Given the description of an element on the screen output the (x, y) to click on. 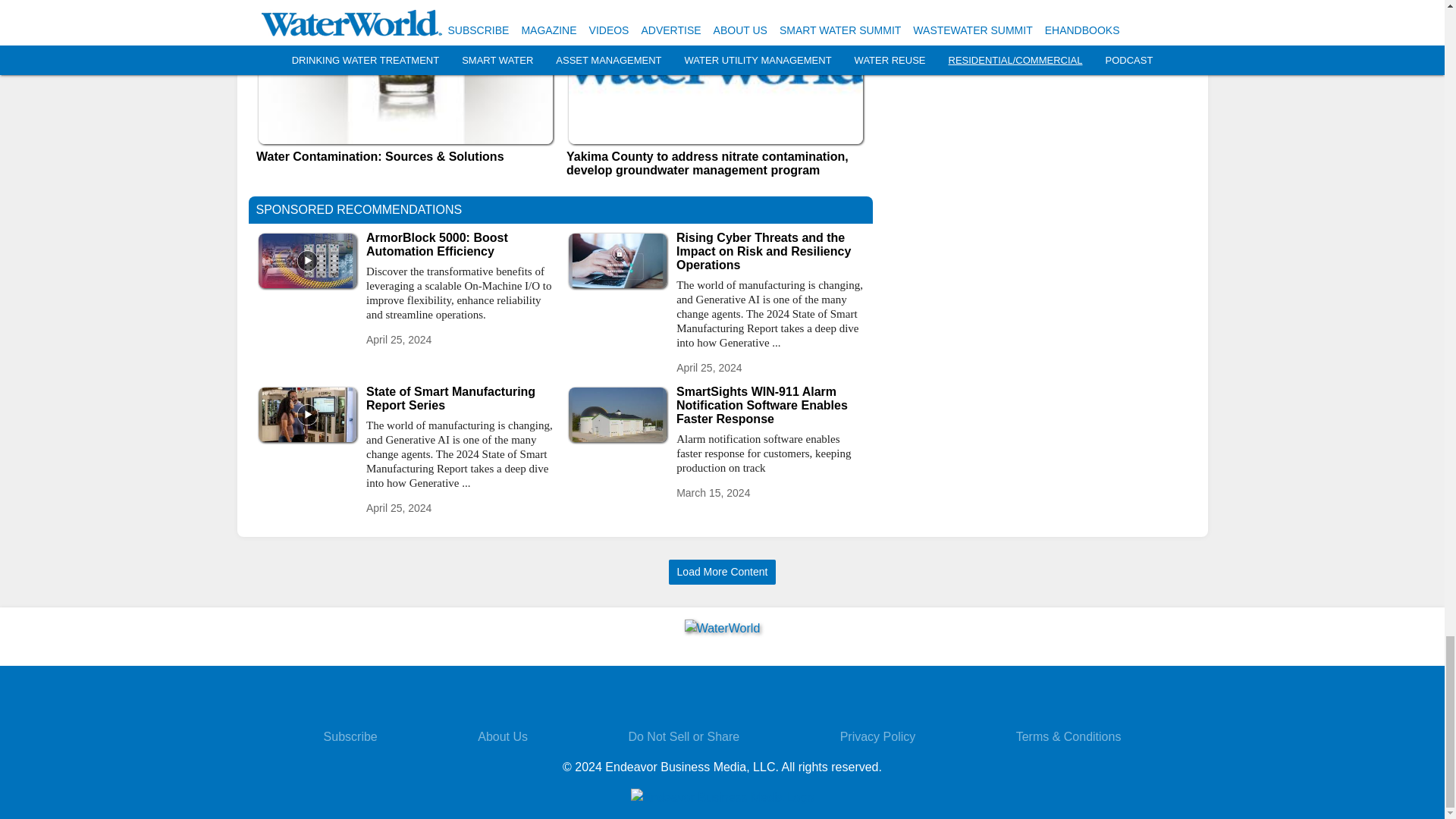
ArmorBlock 5000: Boost Automation Efficiency (459, 244)
State of Smart Manufacturing Report Series (459, 398)
